Given the description of an element on the screen output the (x, y) to click on. 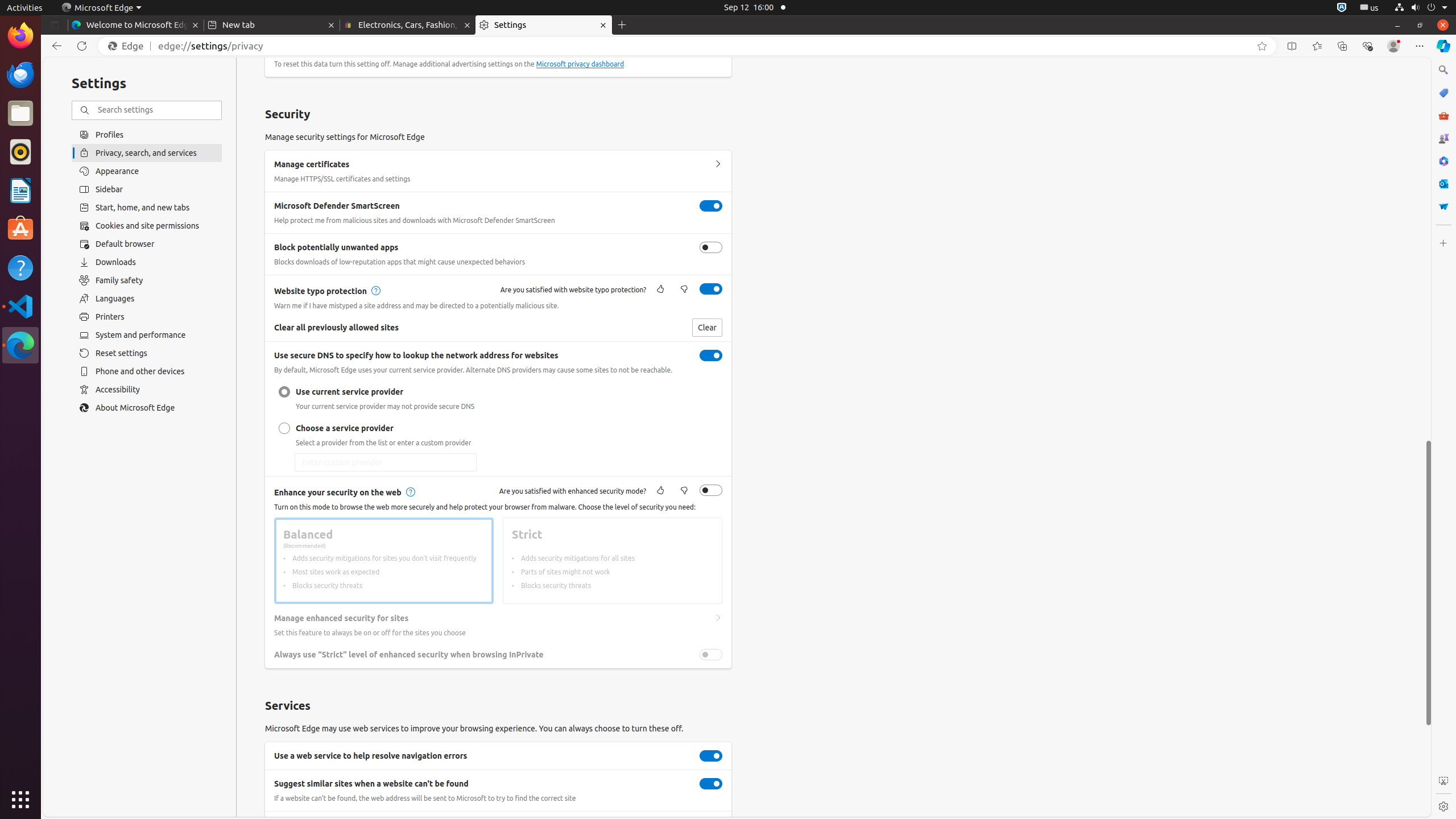
Languages Element type: tree-item (146, 298)
Customize Element type: push-button (1443, 243)
LibreOffice Writer Element type: push-button (20, 190)
Enhance your security on the web Element type: check-box (710, 489)
System and performance Element type: tree-item (146, 334)
